Given the description of an element on the screen output the (x, y) to click on. 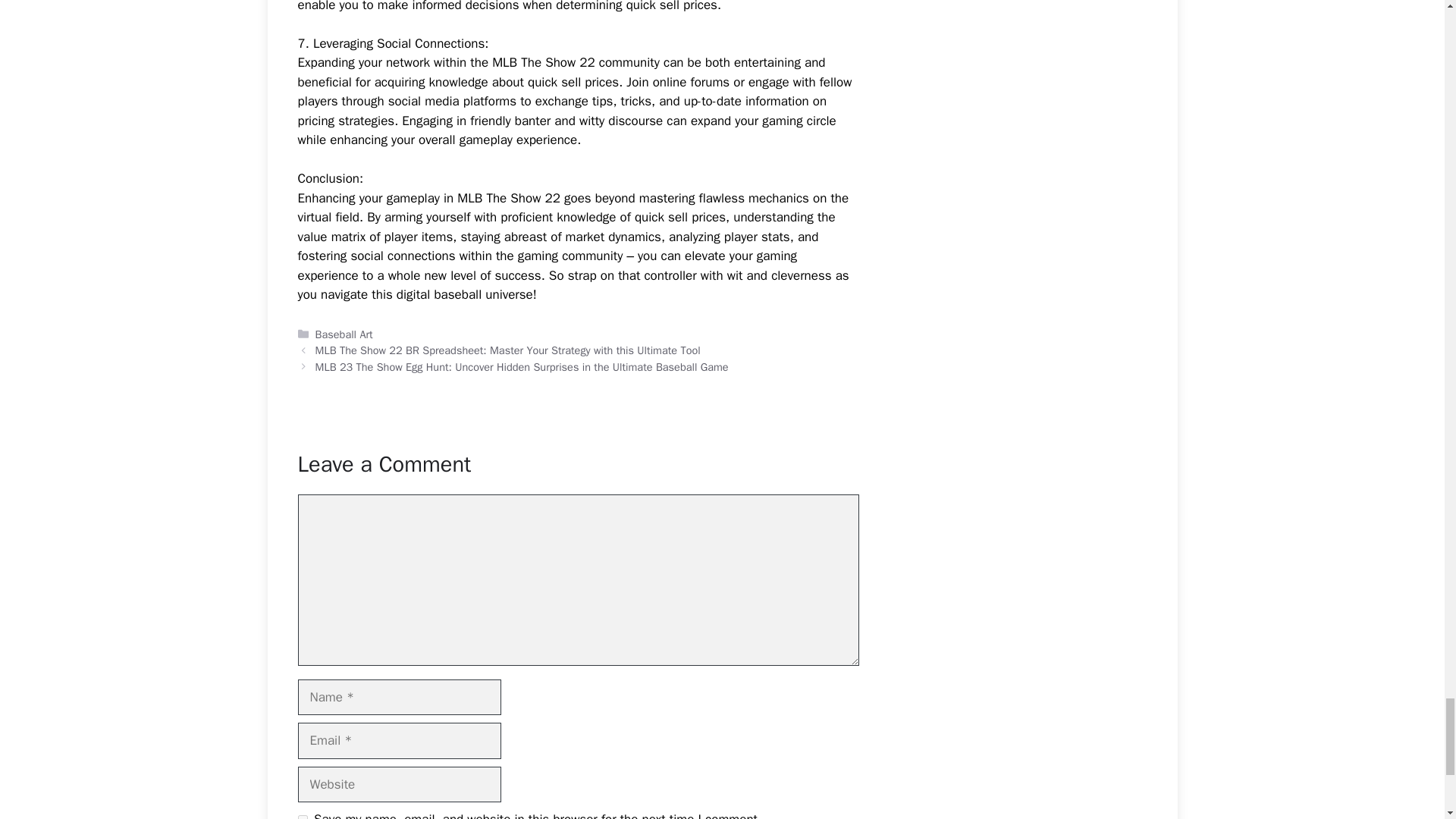
yes (302, 816)
Baseball Art (343, 334)
